Given the description of an element on the screen output the (x, y) to click on. 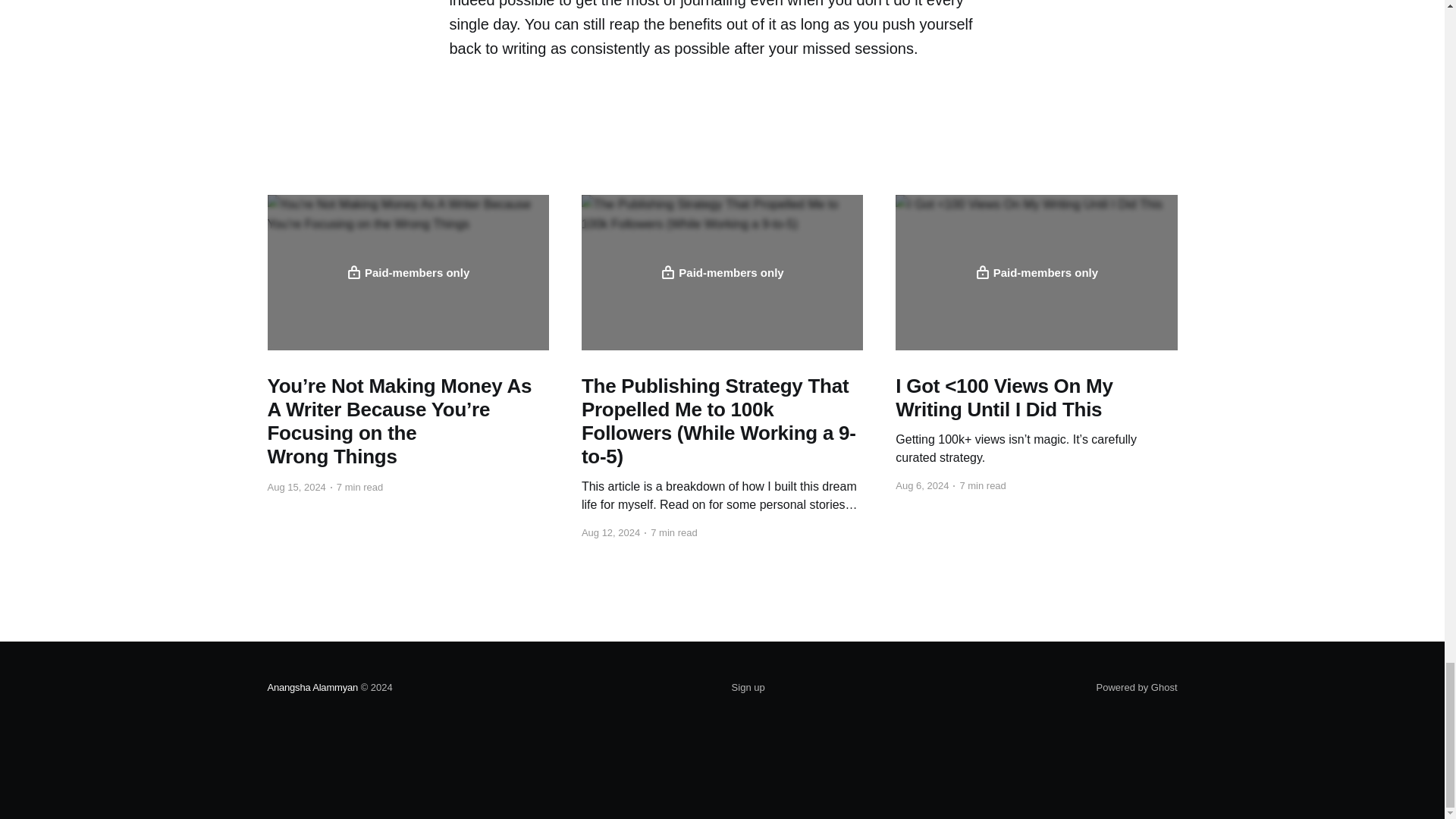
Anangsha Alammyan (312, 686)
Paid-members only (407, 271)
Paid-members only (1035, 271)
Paid-members only (721, 271)
Powered by Ghost (1136, 686)
Sign up (748, 687)
